Given the description of an element on the screen output the (x, y) to click on. 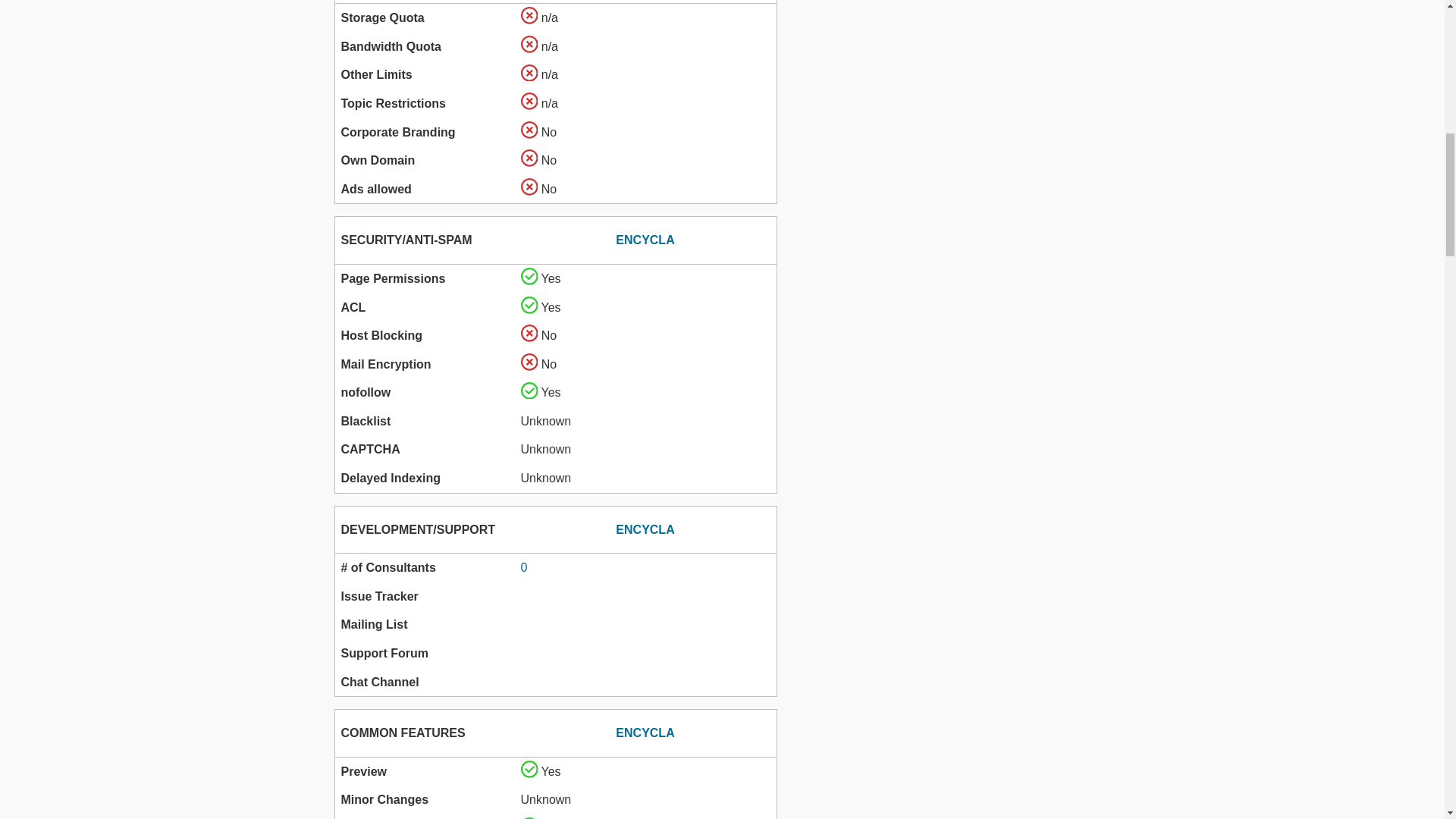
ENCYCLA (644, 239)
ENCYCLA (644, 529)
ENCYCLA (644, 732)
